Given the description of an element on the screen output the (x, y) to click on. 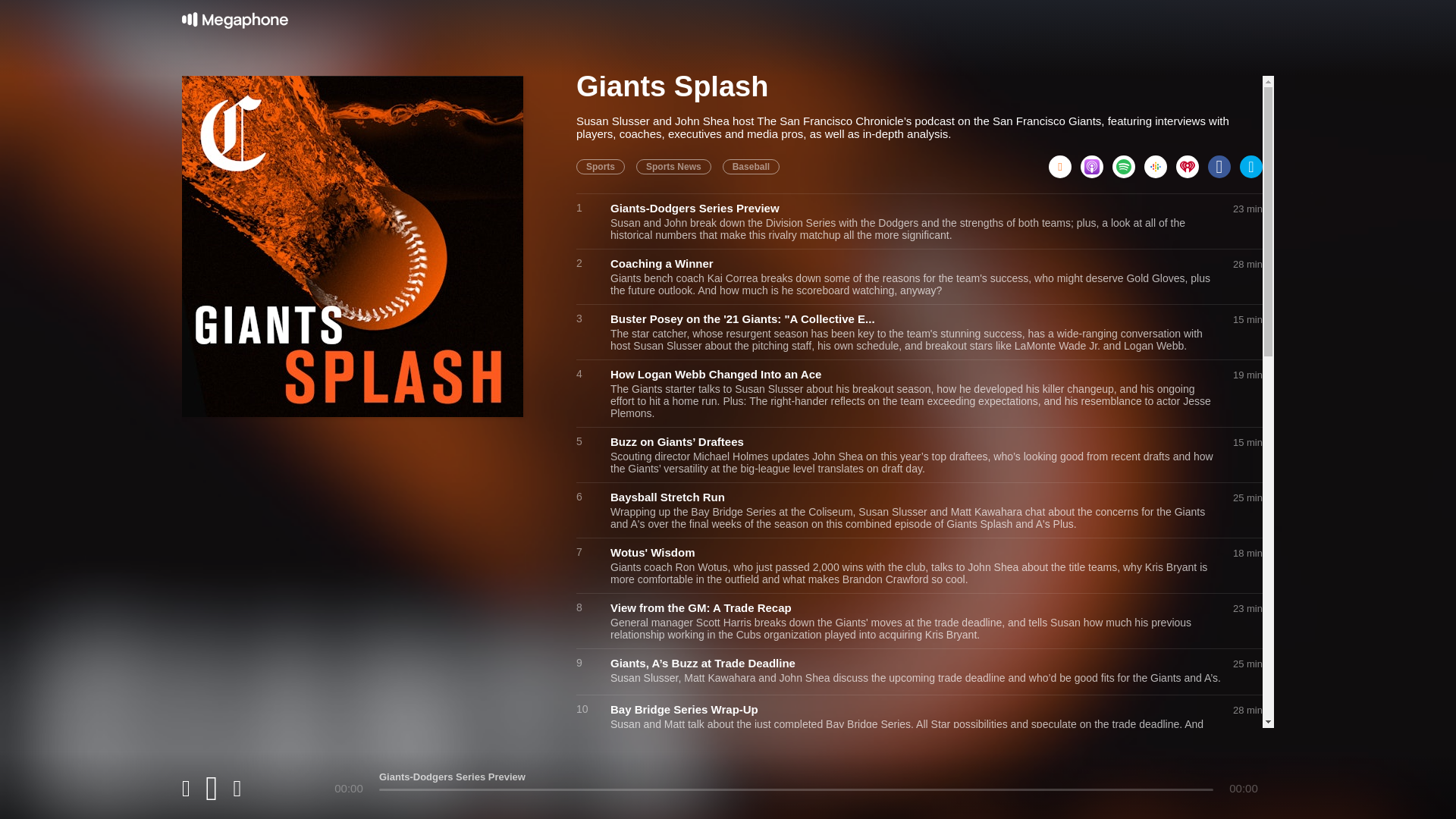
Subscribe via Spotify (1128, 161)
Subscribe via RSS (1064, 161)
Subscribe via Apple Podcasts (1096, 161)
Subscribe via iHeart (1192, 161)
Share via Twitter (1251, 161)
Share via Facebook (1224, 161)
Subscribe via Google Podcasts (1160, 161)
